Given the description of an element on the screen output the (x, y) to click on. 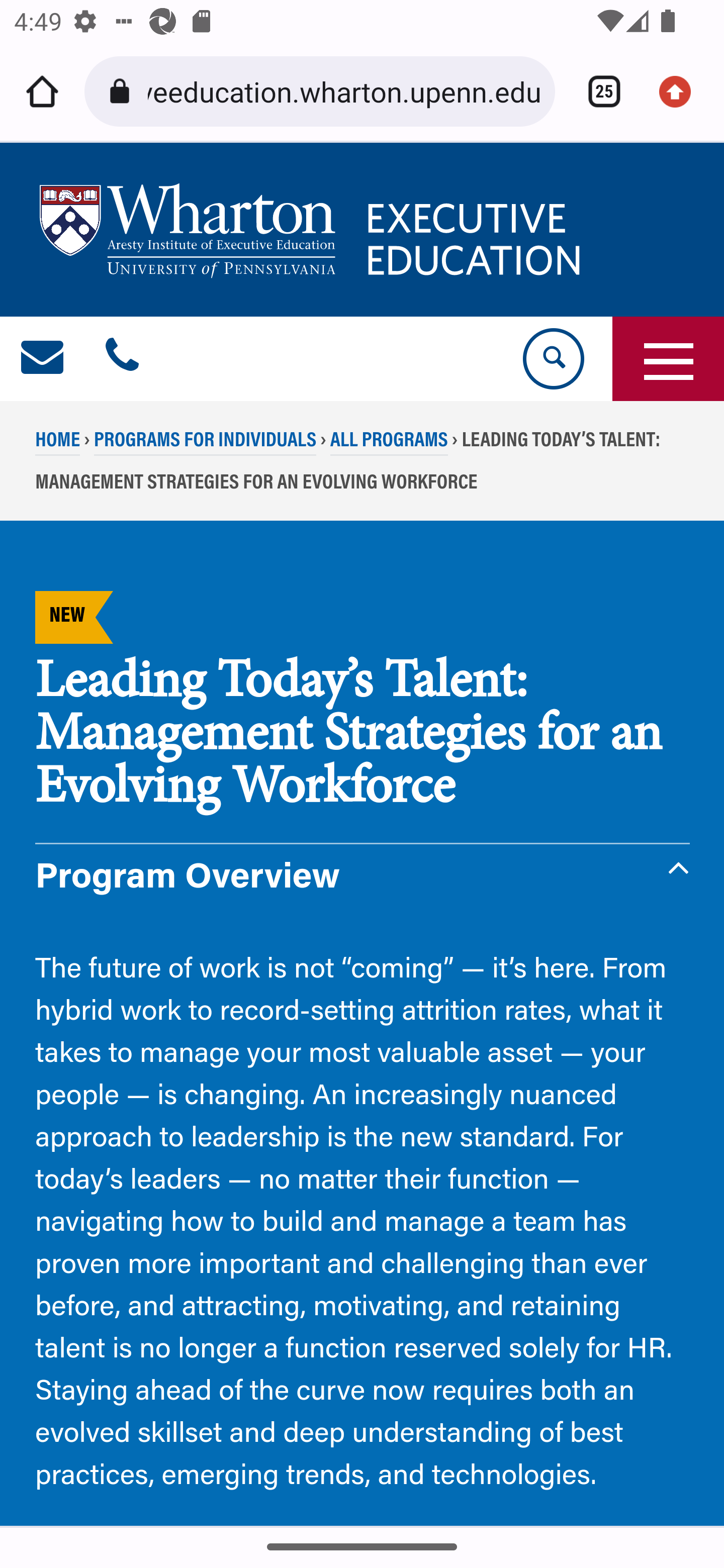
Home (42, 91)
Connection is secure (122, 91)
Switch or close tabs (597, 91)
Update available. More options (681, 91)
Wharton Executive Education (313, 230)
 (43, 358)
 (122, 358)
Mobile menu toggle (668, 358)
 Search Wharton  (552, 358)
HOME (58, 444)
PROGRAMS FOR INDIVIDUALS (205, 444)
ALL PROGRAMS (388, 444)
Program Overview  (362, 879)
